Given the description of an element on the screen output the (x, y) to click on. 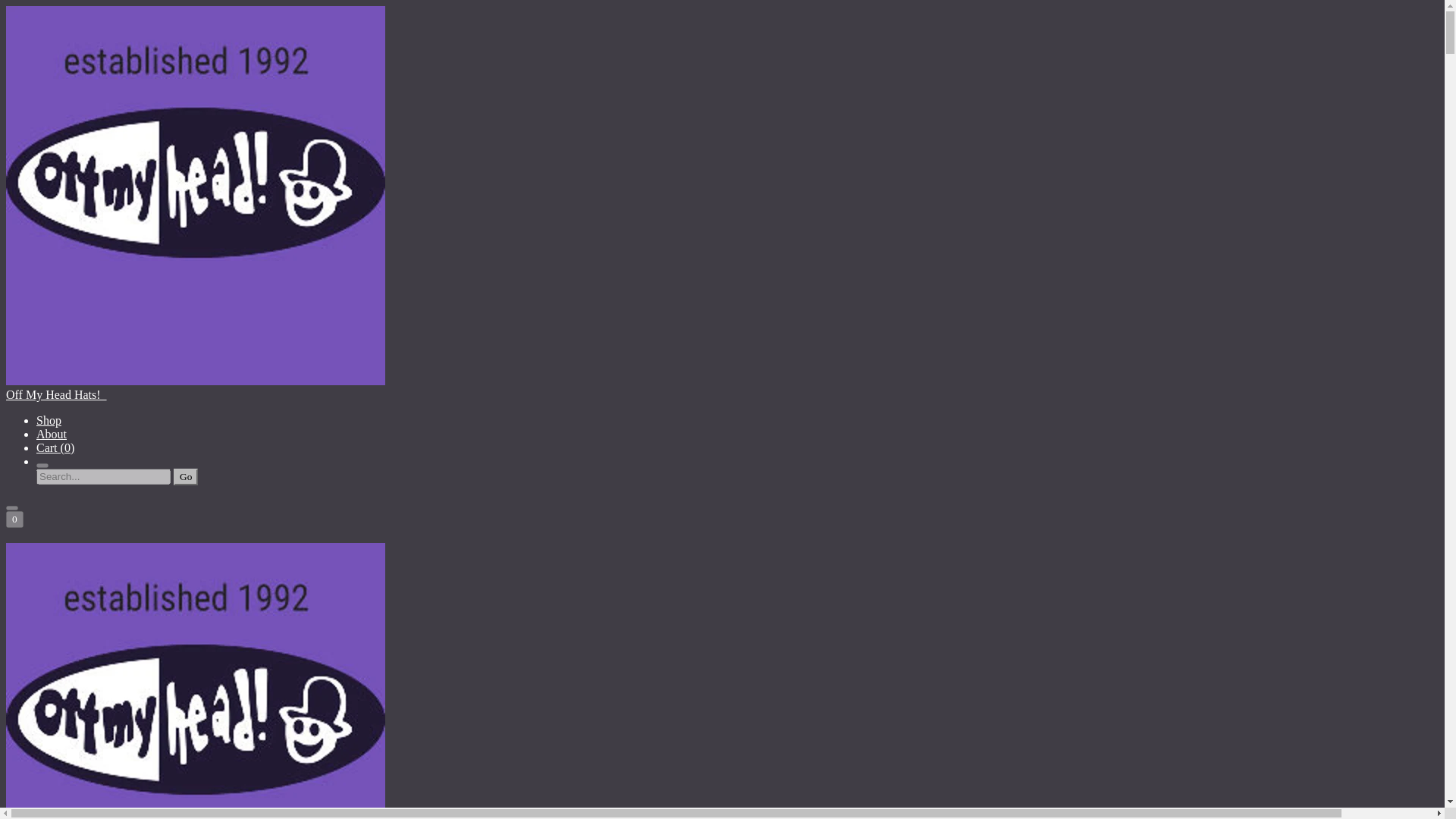
Go (185, 476)
Go (185, 476)
About (51, 433)
Shop (48, 420)
0 (14, 519)
